Given the description of an element on the screen output the (x, y) to click on. 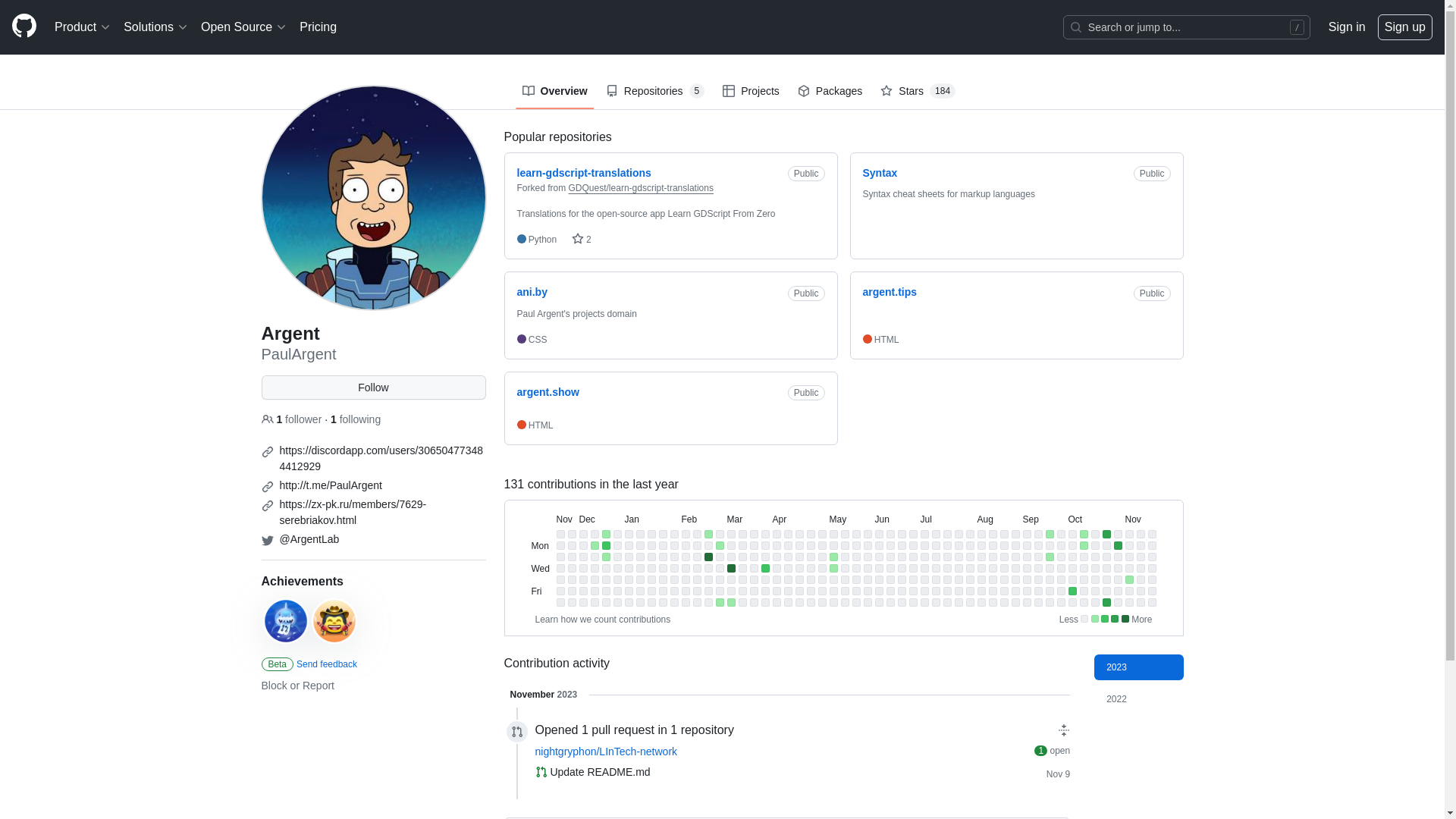
Open Element type: hover (541, 771)
Social account Element type: hover (266, 505)
Packages Element type: text (829, 90)
https://zx-pk.ru/members/7629-serebriakov.html Element type: text (352, 512)
https://discordapp.com/users/306504773484412929 Element type: text (381, 458)
learn-gdscript-translations Element type: text (584, 172)
Update README.md Element type: text (599, 771)
Follow Element type: text (372, 387)
Open Source Element type: text (243, 27)
@ArgentLab Element type: text (308, 539)
Stars
184 Element type: text (917, 90)
ani.by Element type: text (532, 291)
argent.tips Element type: text (889, 291)
http://t.me/PaulArgent Element type: text (330, 485)
Repositories
5 Element type: text (655, 90)
Overview Element type: text (554, 90)
Solutions Element type: text (155, 27)
Skip to content Element type: text (0, 0)
Social account Element type: hover (266, 451)
2023 Element type: text (1138, 667)
Learn how we count contributions Element type: text (603, 619)
Achievements Element type: text (301, 580)
Sign in Element type: text (1346, 27)
Projects Element type: text (750, 90)
Pricing Element type: text (317, 27)
Sign up Element type: text (1404, 27)
Product Element type: text (82, 27)
argent.show Element type: text (548, 391)
Social account Element type: hover (266, 486)
Send feedback Element type: text (326, 663)
1 follower Element type: text (292, 419)
2 Element type: text (581, 239)
2022 Element type: text (1138, 699)
Syntax Element type: text (879, 172)
1 following Element type: text (355, 419)
Search or jump to... Element type: text (1186, 26)
GDQuest/learn-gdscript-translations Element type: text (640, 187)
